Given the description of an element on the screen output the (x, y) to click on. 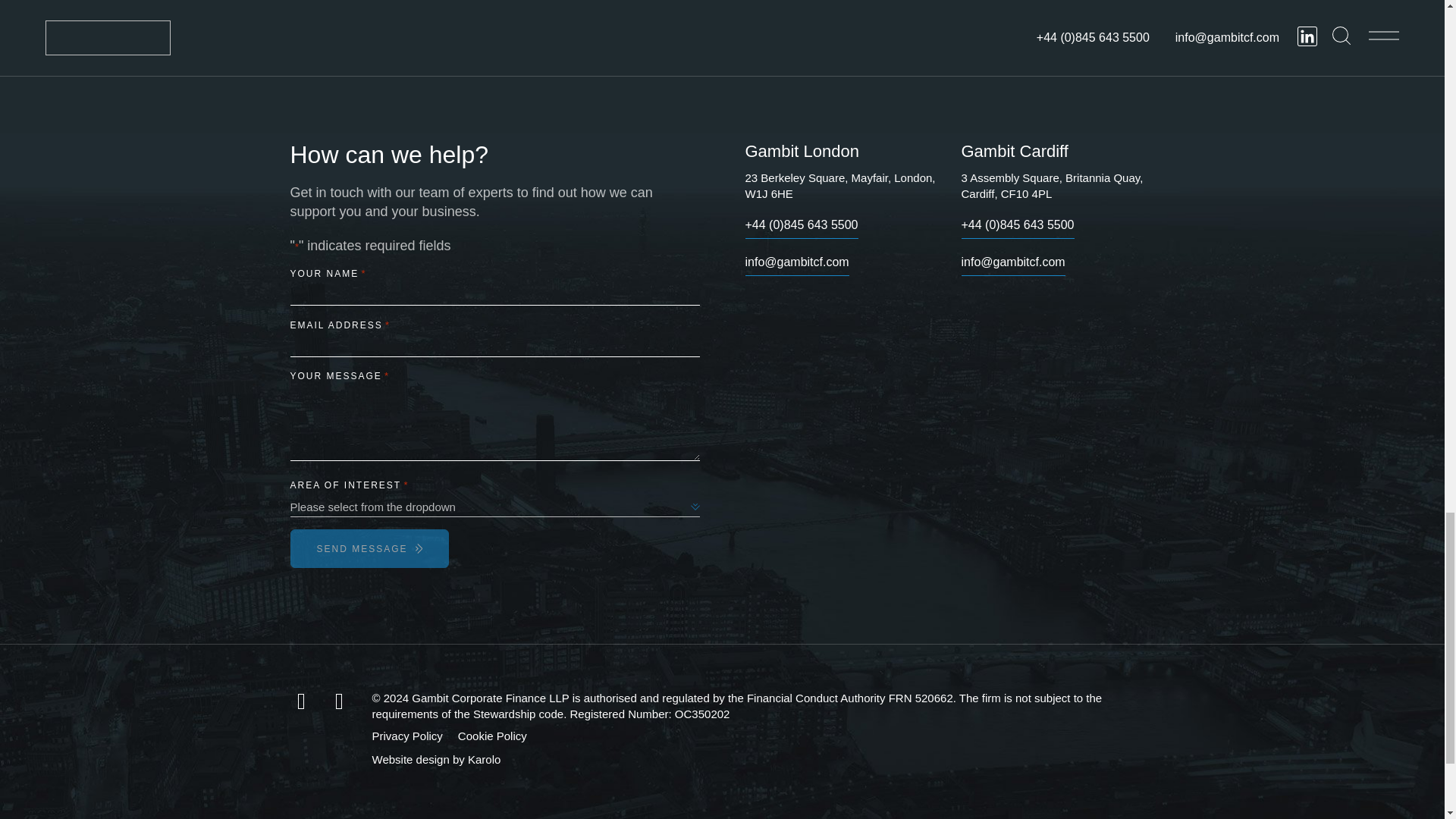
Privacy Policy (406, 735)
Cookie Policy (492, 735)
SEND MESSAGE (368, 548)
Website design by Karolo (435, 758)
